Given the description of an element on the screen output the (x, y) to click on. 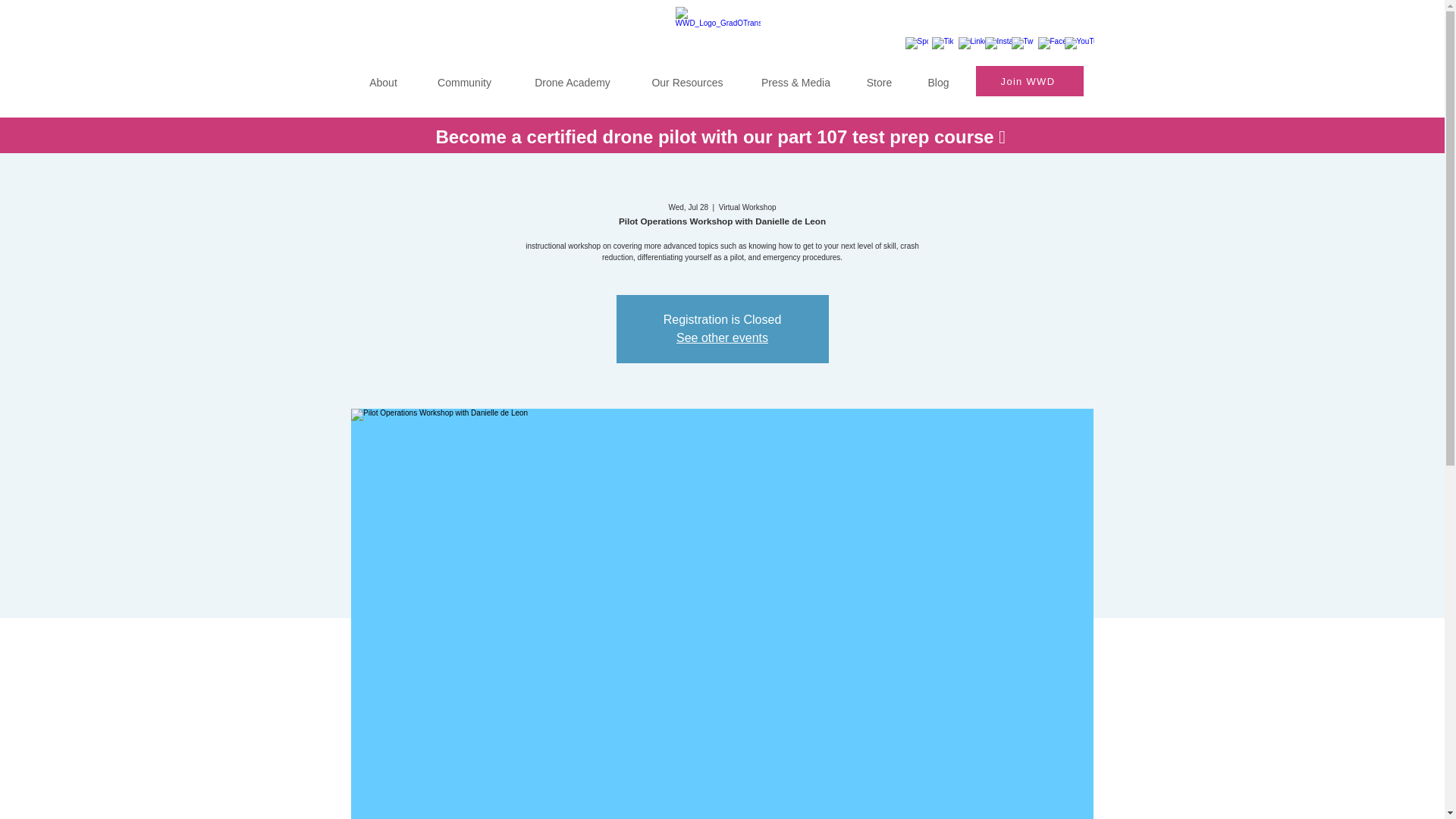
Store (879, 75)
Blog (939, 75)
Drone Academy (571, 75)
About (382, 75)
Join WWD (1029, 81)
Our Resources (686, 75)
Community (463, 75)
